Given the description of an element on the screen output the (x, y) to click on. 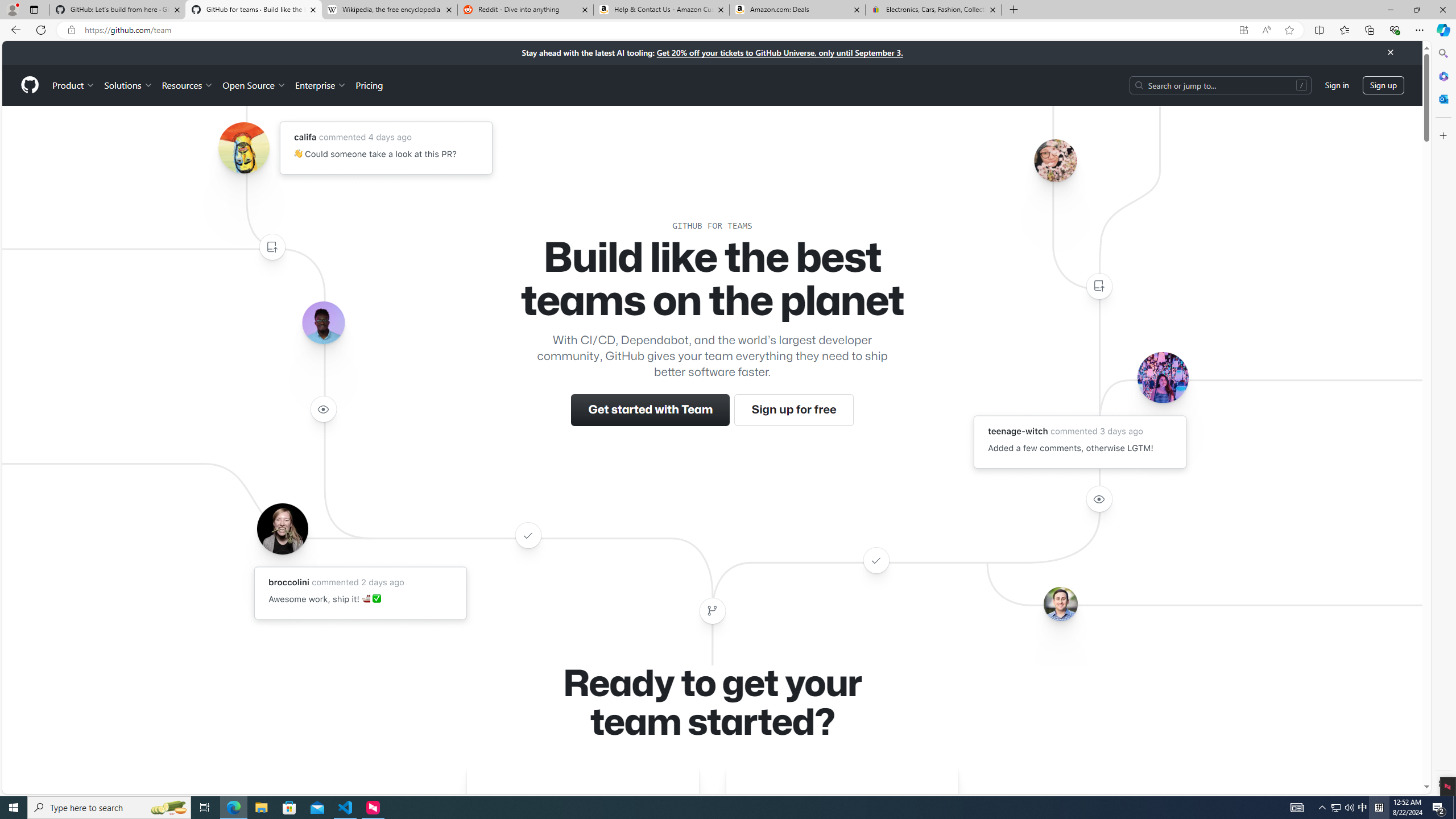
Get started with Team (650, 409)
Solutions (128, 84)
Wikipedia, the free encyclopedia (390, 9)
Avatar of the user teenage-witch (1162, 376)
Pricing (368, 84)
Help & Contact Us - Amazon Customer Service (660, 9)
